Given the description of an element on the screen output the (x, y) to click on. 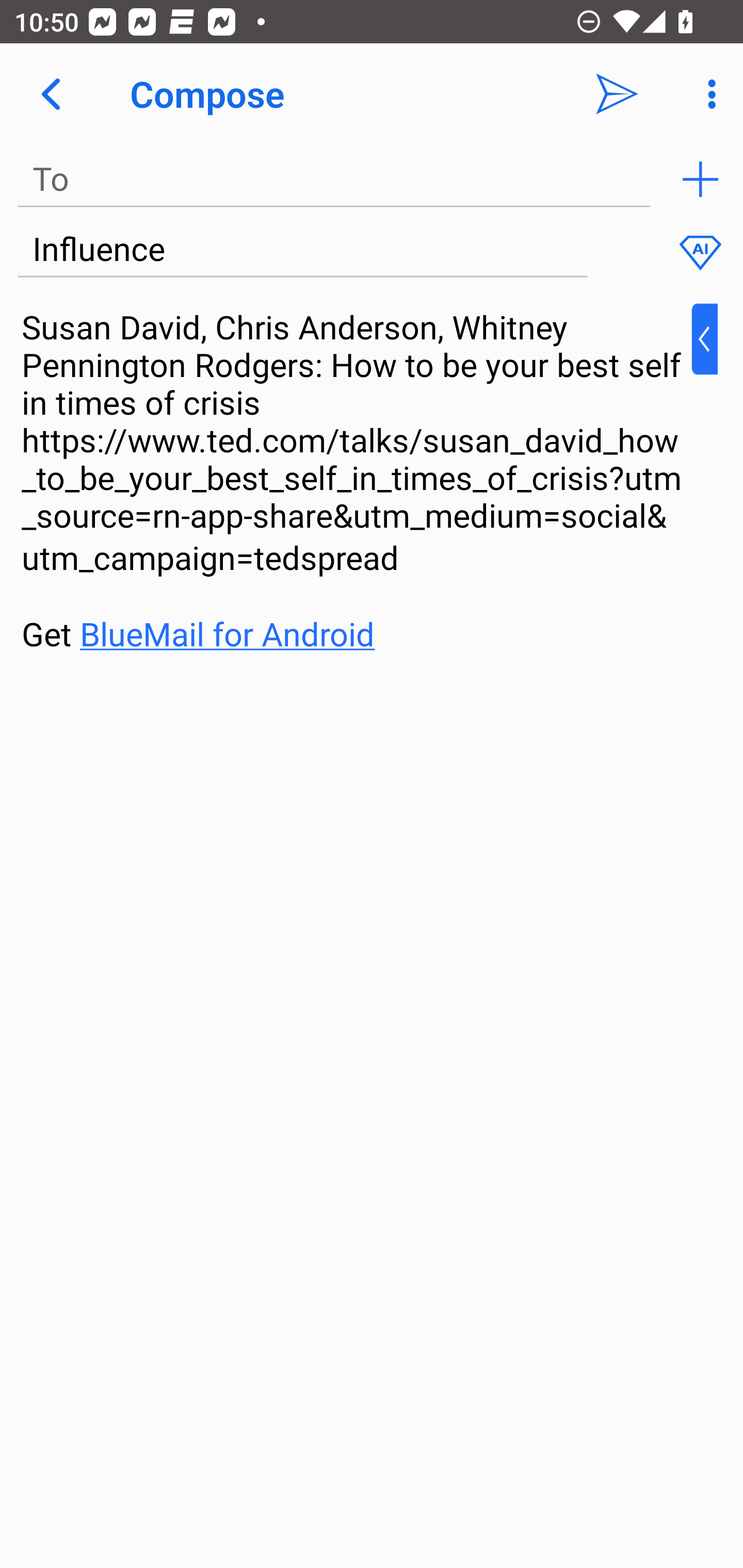
Navigate up (50, 93)
Send (616, 93)
More Options (706, 93)
To (334, 179)
Add recipient (To) (699, 179)
Influence (302, 249)
